Given the description of an element on the screen output the (x, y) to click on. 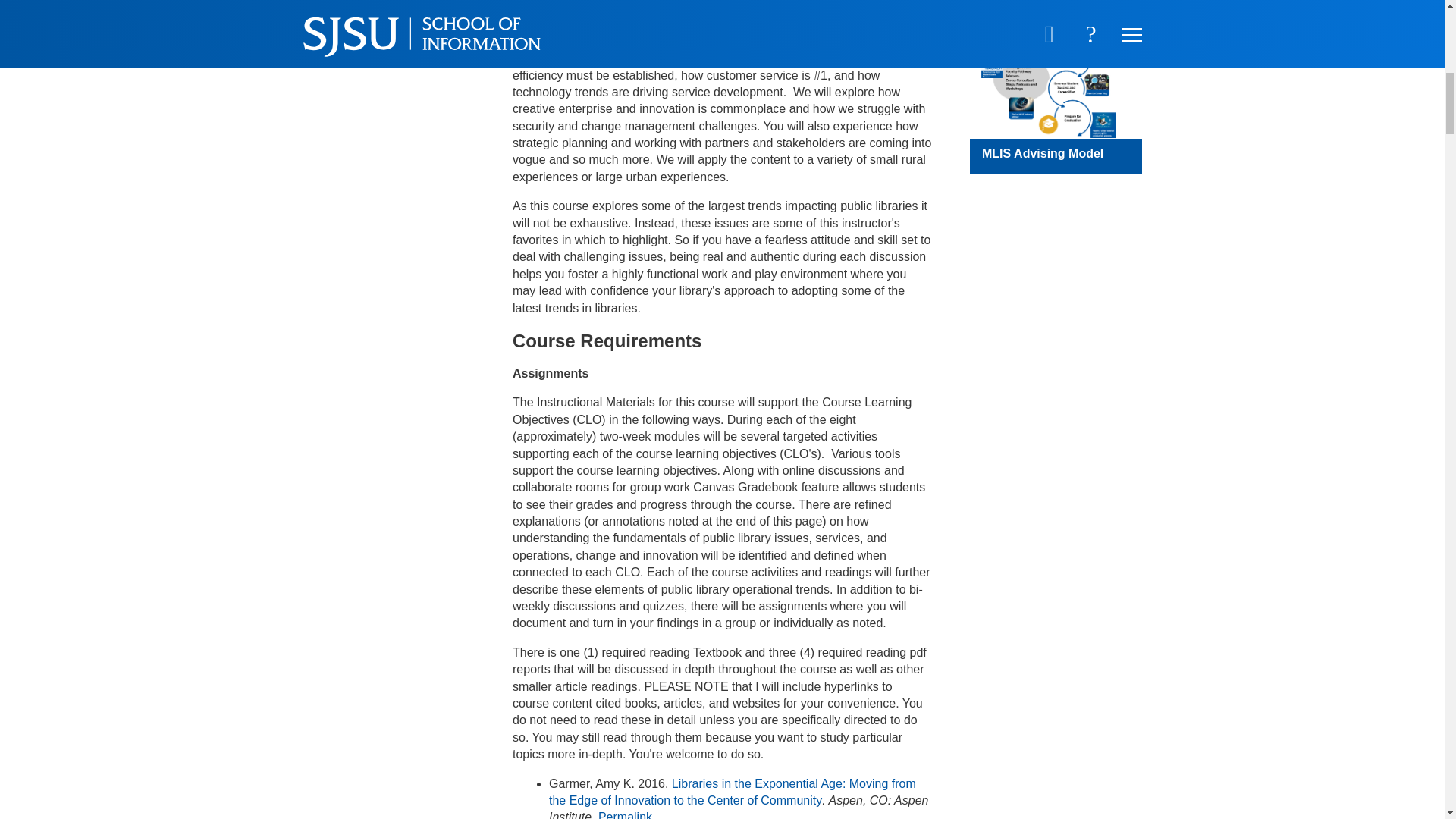
Permalink (625, 814)
